Given the description of an element on the screen output the (x, y) to click on. 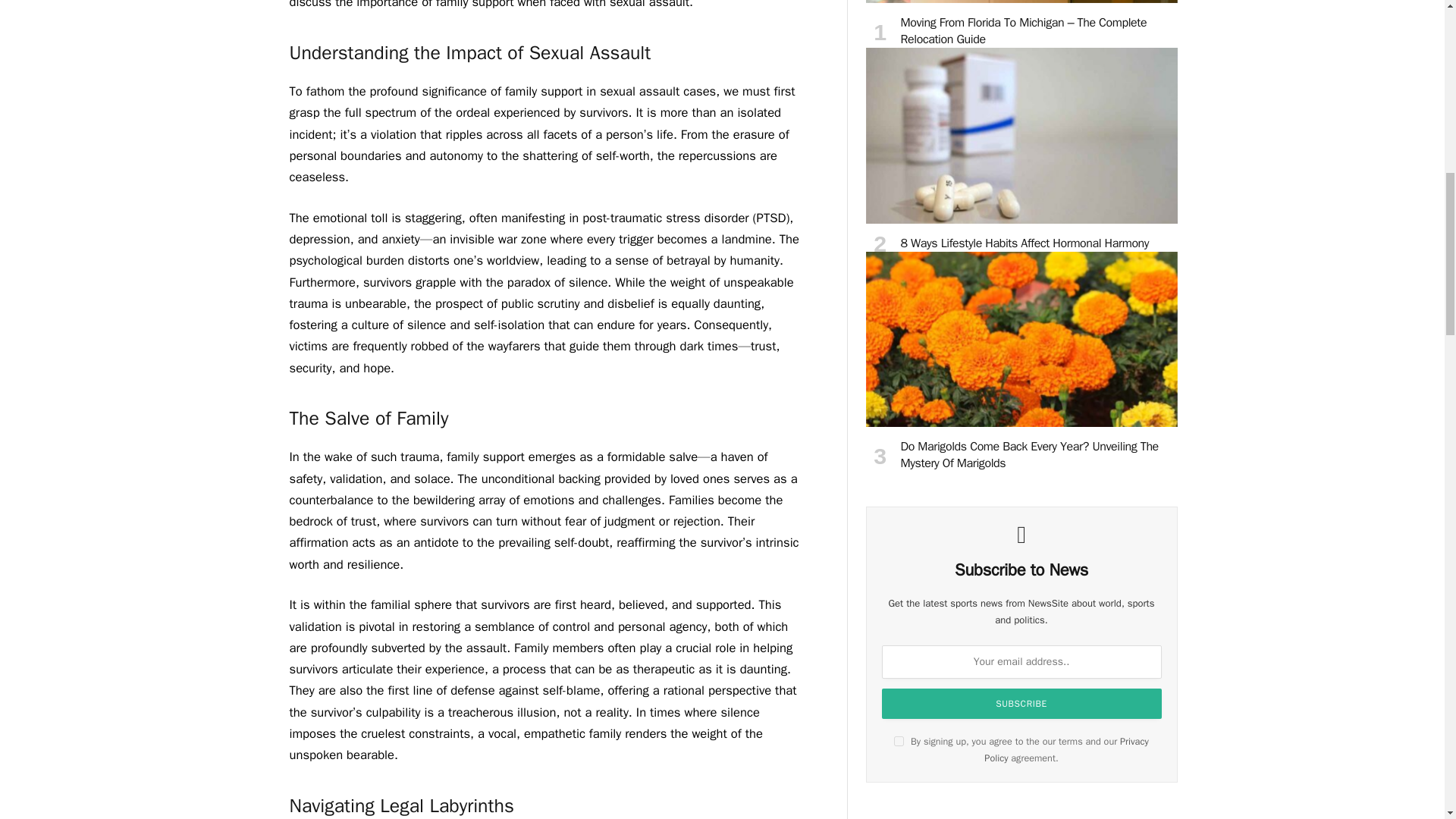
Subscribe (1021, 703)
on (898, 741)
